Given the description of an element on the screen output the (x, y) to click on. 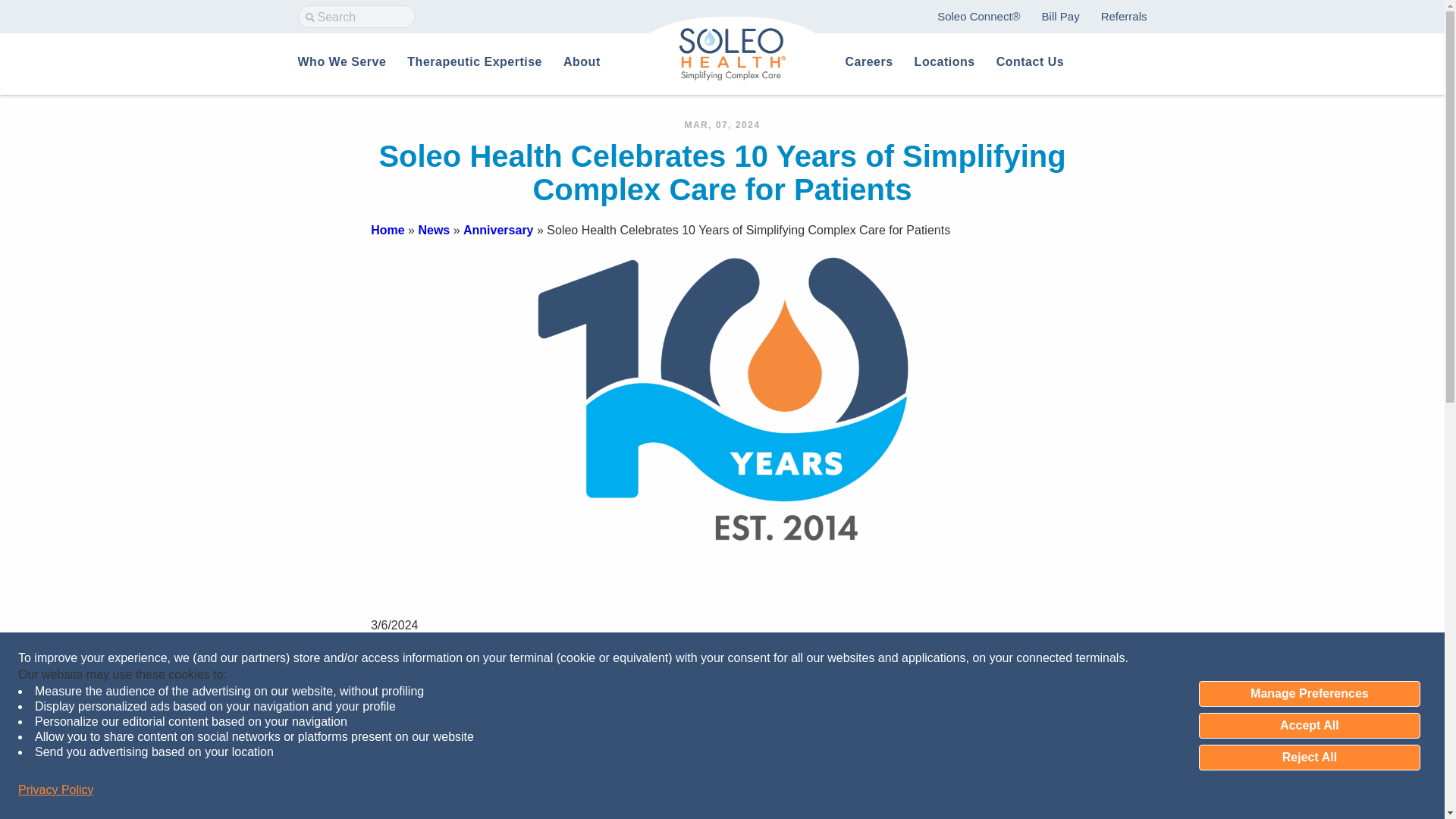
Therapeutic Expertise (474, 60)
Search (60, 17)
About (581, 60)
Referrals (1123, 15)
Contact Us (1029, 60)
Careers (868, 60)
Manage Preferences (1309, 693)
Reject All (1309, 757)
Accept All (1309, 725)
Bill Pay (1061, 15)
Who We Serve (341, 60)
Locations (944, 60)
Privacy Policy (55, 789)
